Given the description of an element on the screen output the (x, y) to click on. 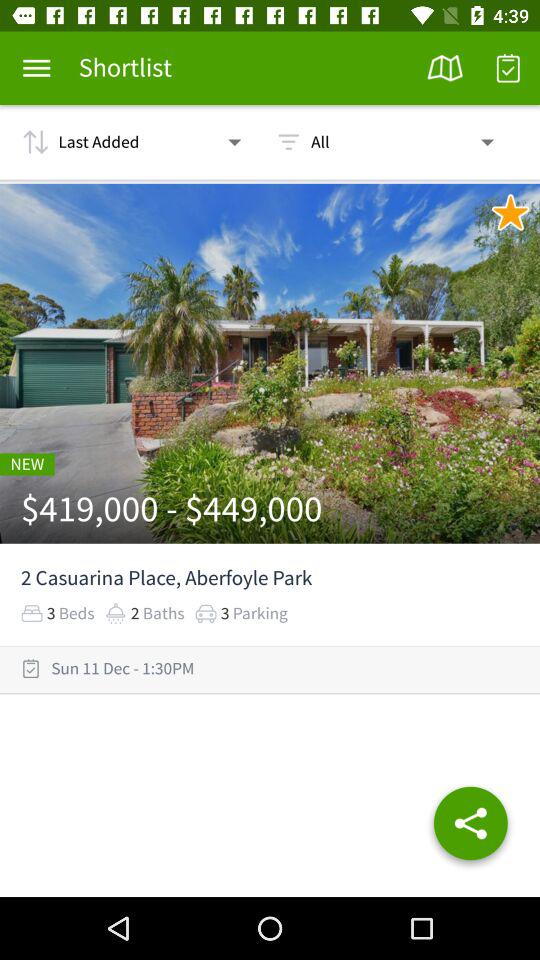
more details (36, 68)
